Given the description of an element on the screen output the (x, y) to click on. 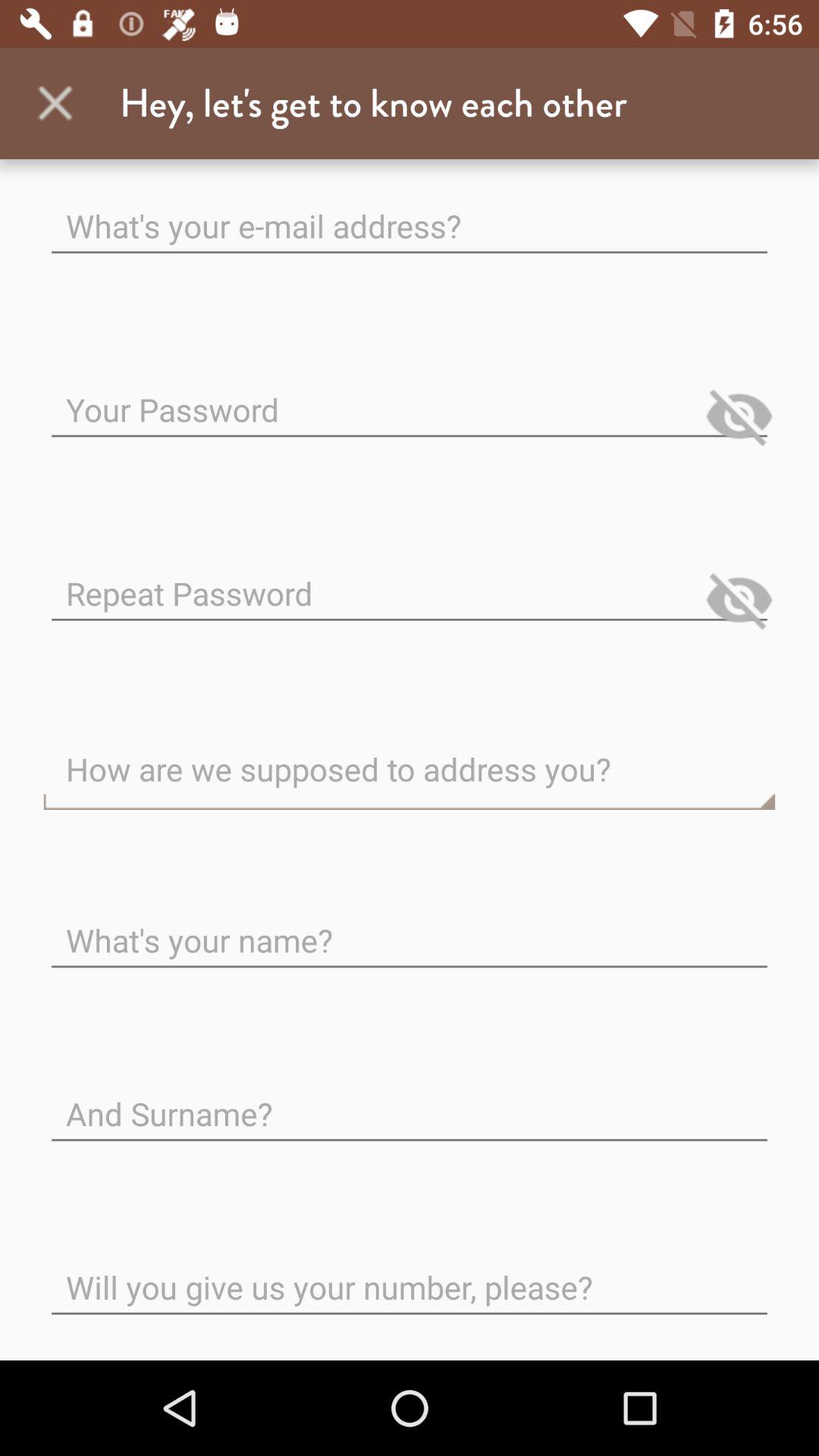
show password (739, 599)
